Given the description of an element on the screen output the (x, y) to click on. 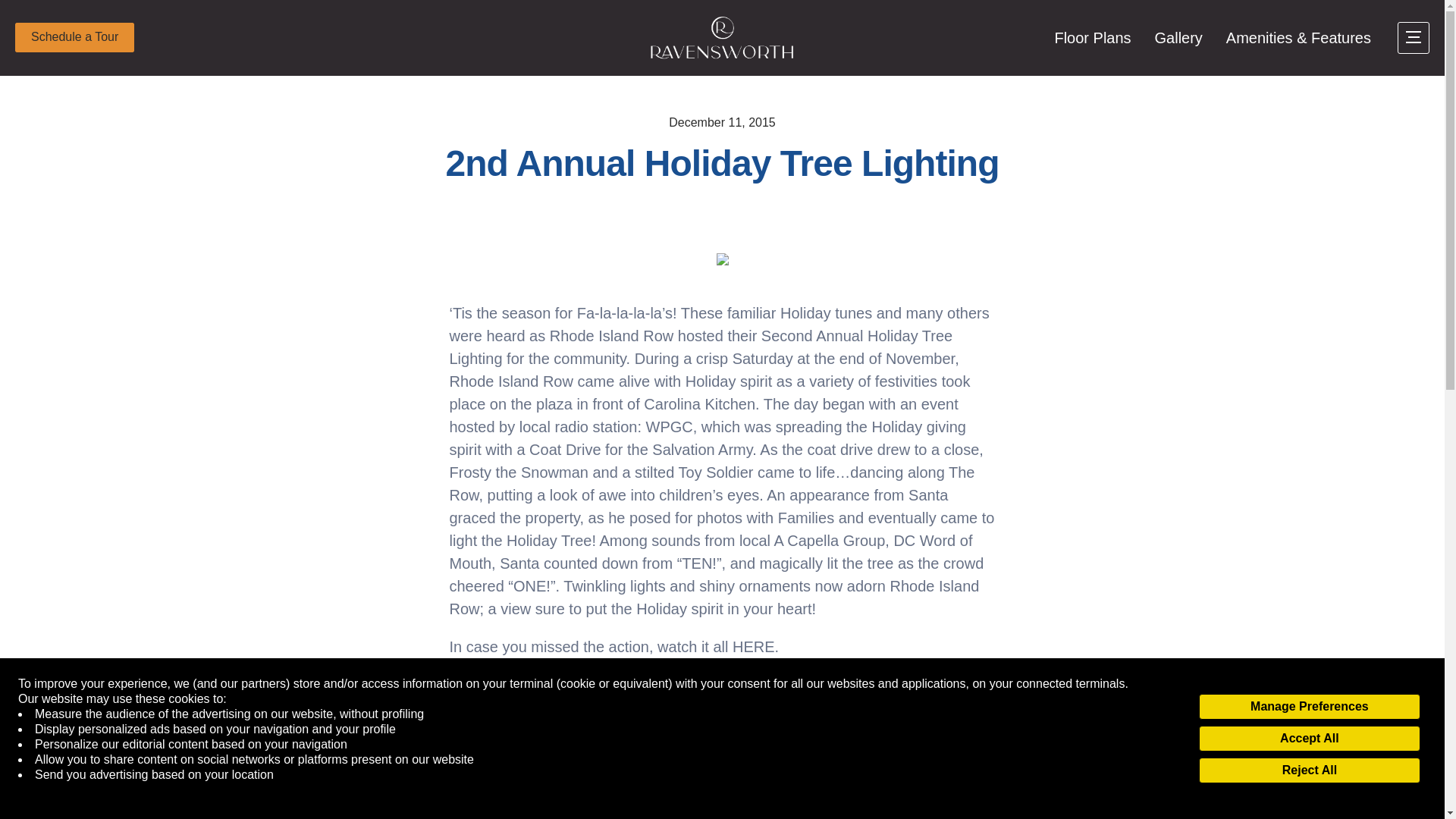
Share this post (937, 755)
Manage Preferences (1309, 706)
Privacy Policy (55, 789)
HERE (753, 646)
Accept All (1309, 738)
Reject All (1309, 769)
Back to Blog (497, 755)
